Given the description of an element on the screen output the (x, y) to click on. 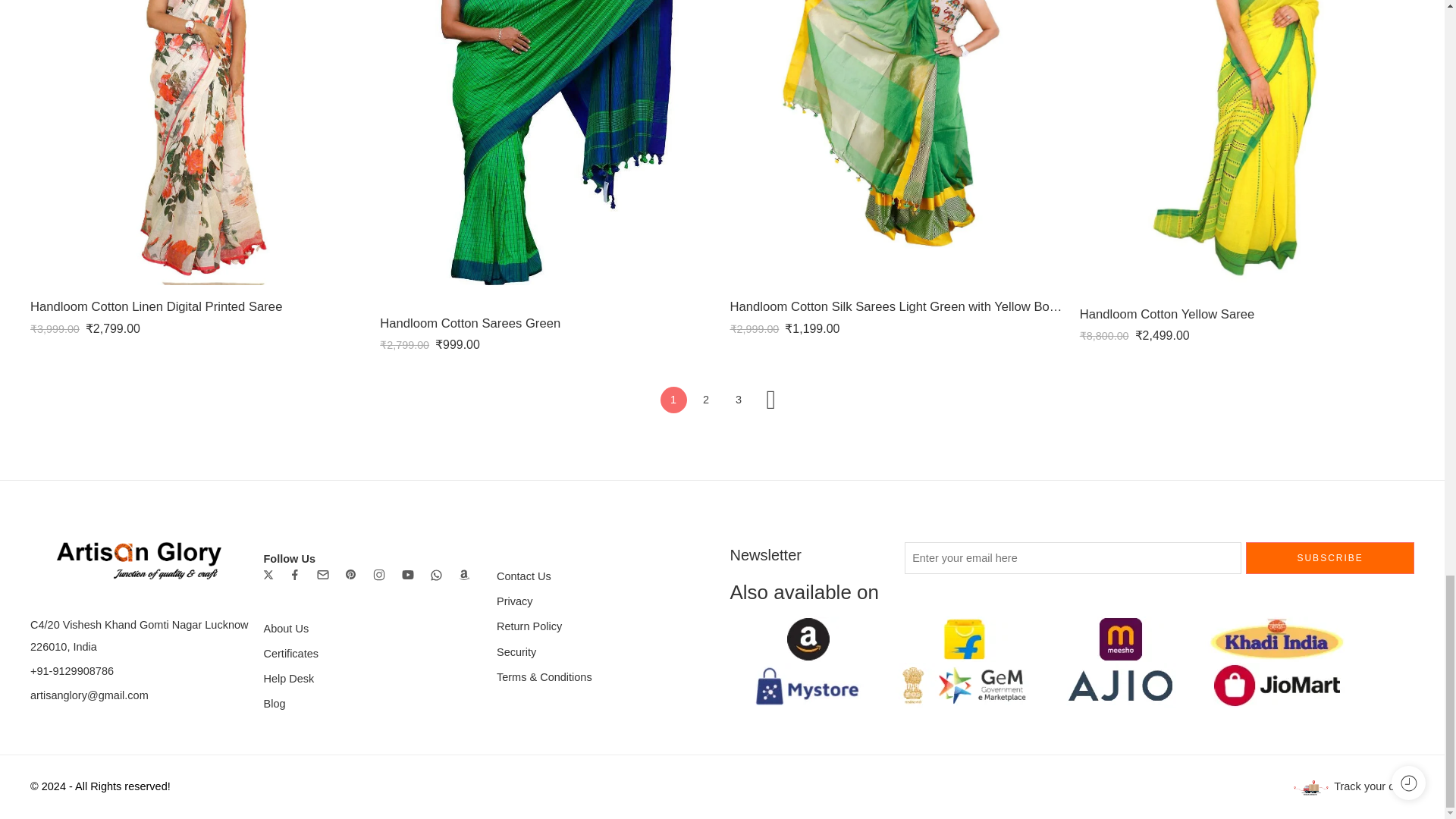
SUBSCRIBE (1329, 558)
